Given the description of an element on the screen output the (x, y) to click on. 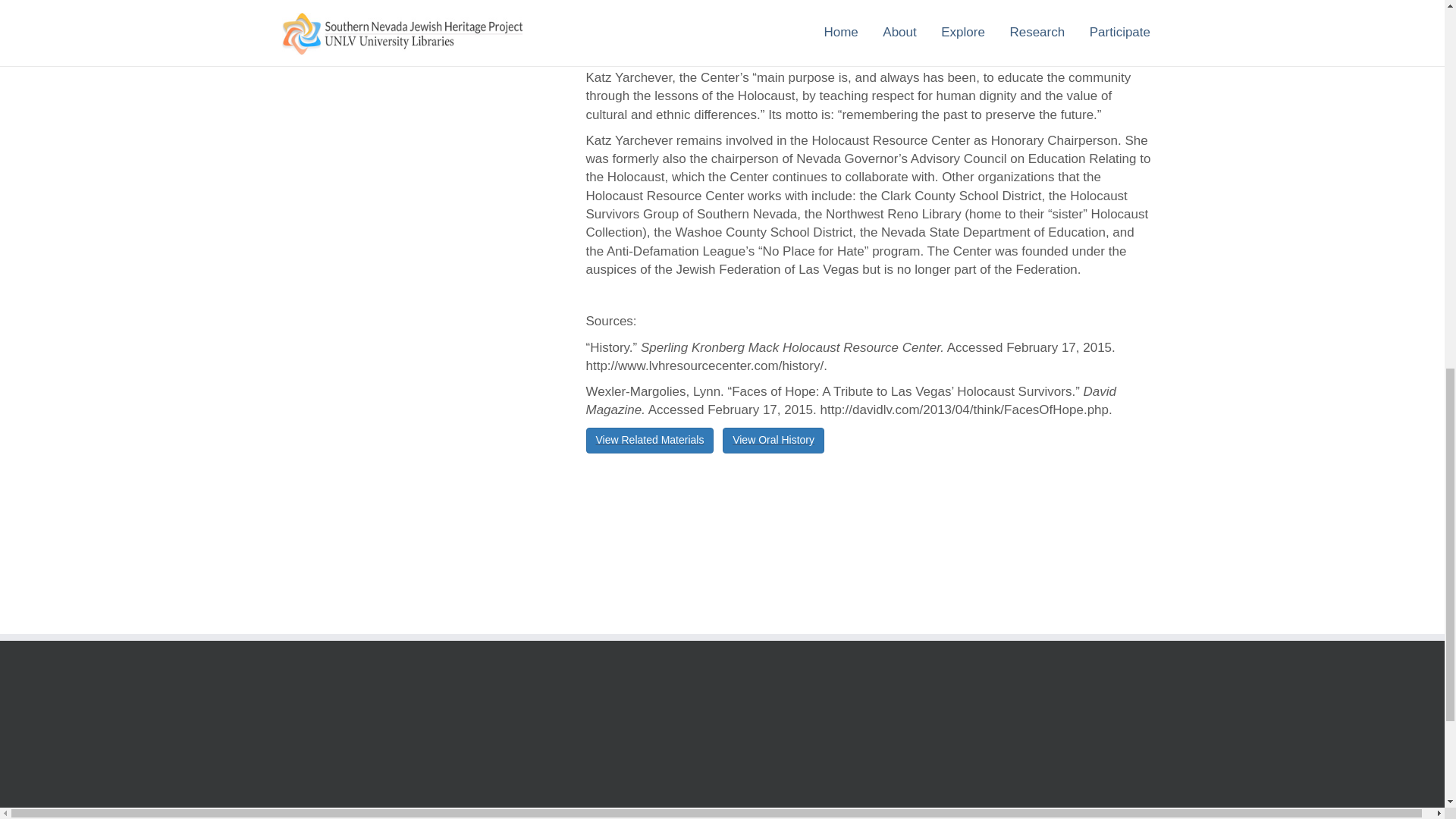
View Related Materials (649, 440)
View Related Materials (649, 440)
View Oral History (773, 440)
View Oral History (773, 440)
